Given the description of an element on the screen output the (x, y) to click on. 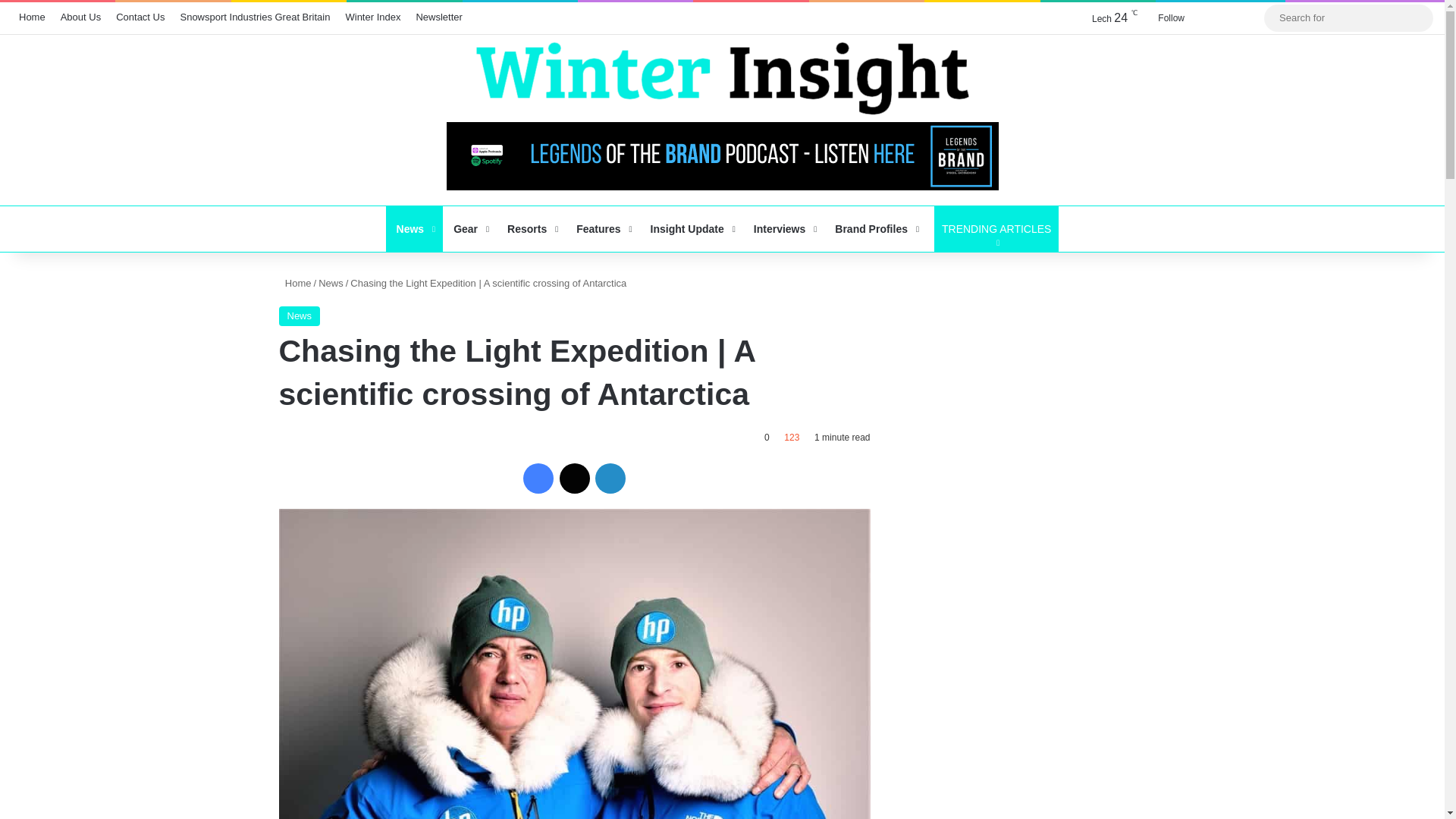
Follow (1168, 18)
Winter Index (372, 17)
Newsletter (437, 17)
Home (31, 17)
Gear (469, 228)
Snowsport Industries Great Britain (254, 17)
LinkedIn (610, 478)
Your Source For - Everything Winter (722, 78)
X (574, 478)
News (414, 228)
